Given the description of an element on the screen output the (x, y) to click on. 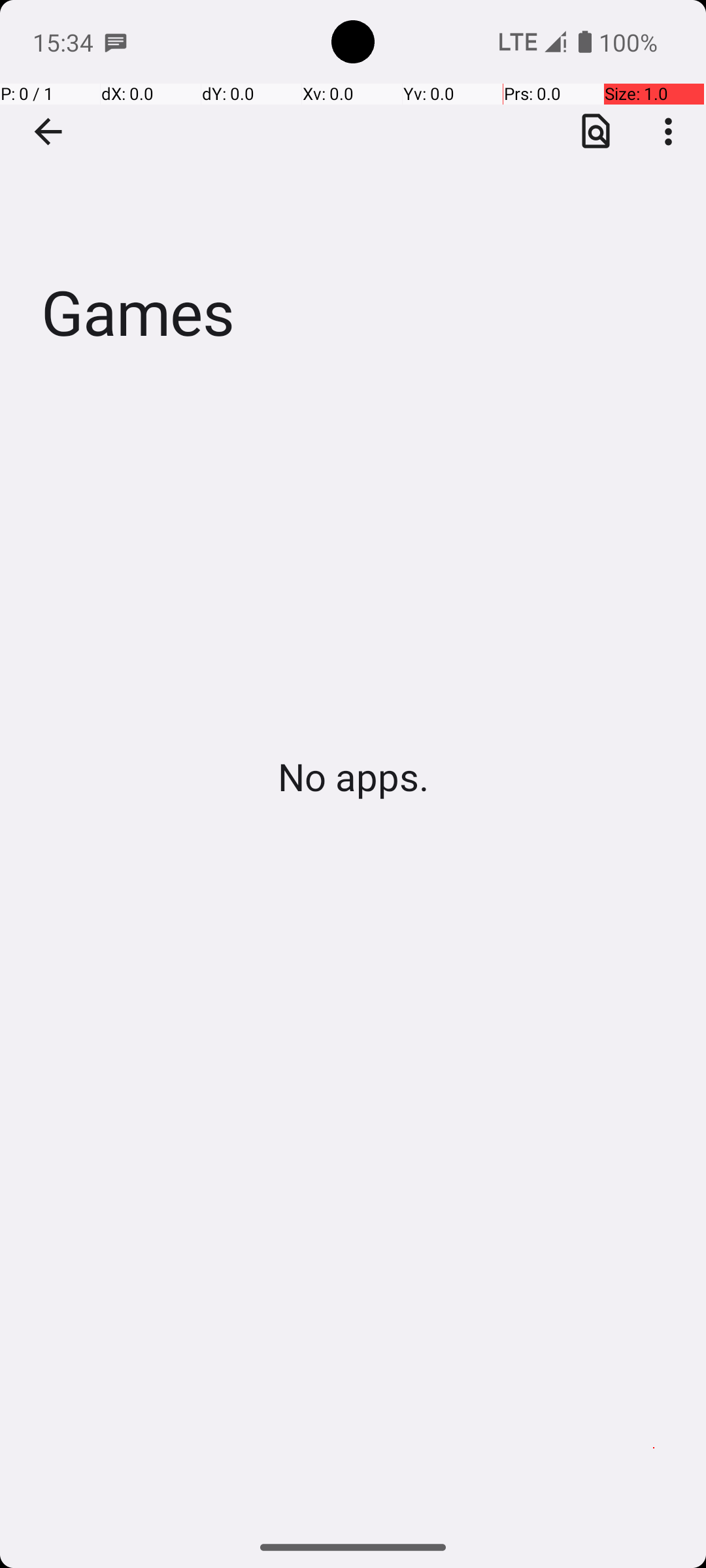
No apps. Element type: android.widget.TextView (353, 776)
